Given the description of an element on the screen output the (x, y) to click on. 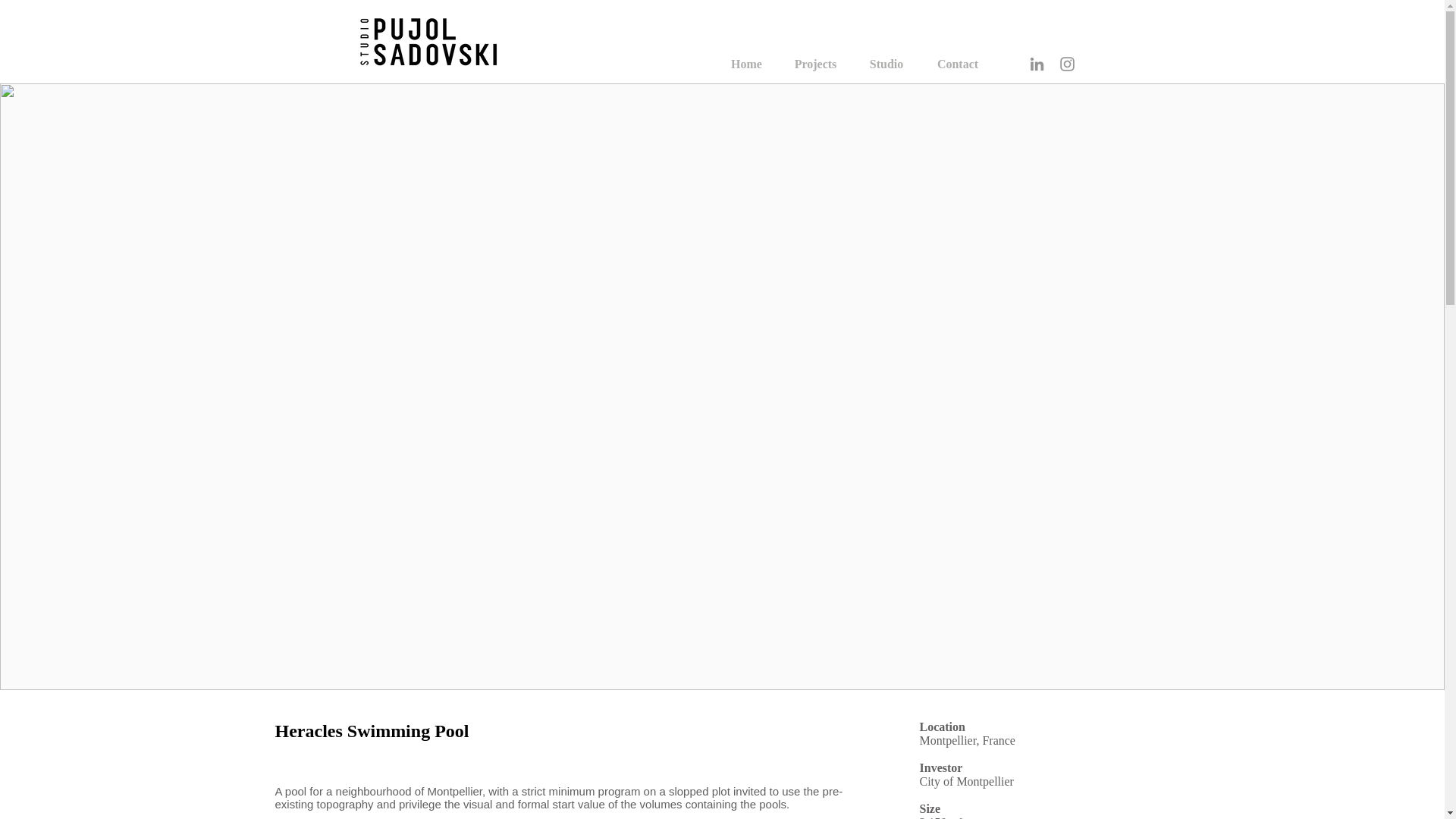
Home (745, 64)
Contact (957, 64)
Studio (885, 64)
Projects (814, 64)
